Given the description of an element on the screen output the (x, y) to click on. 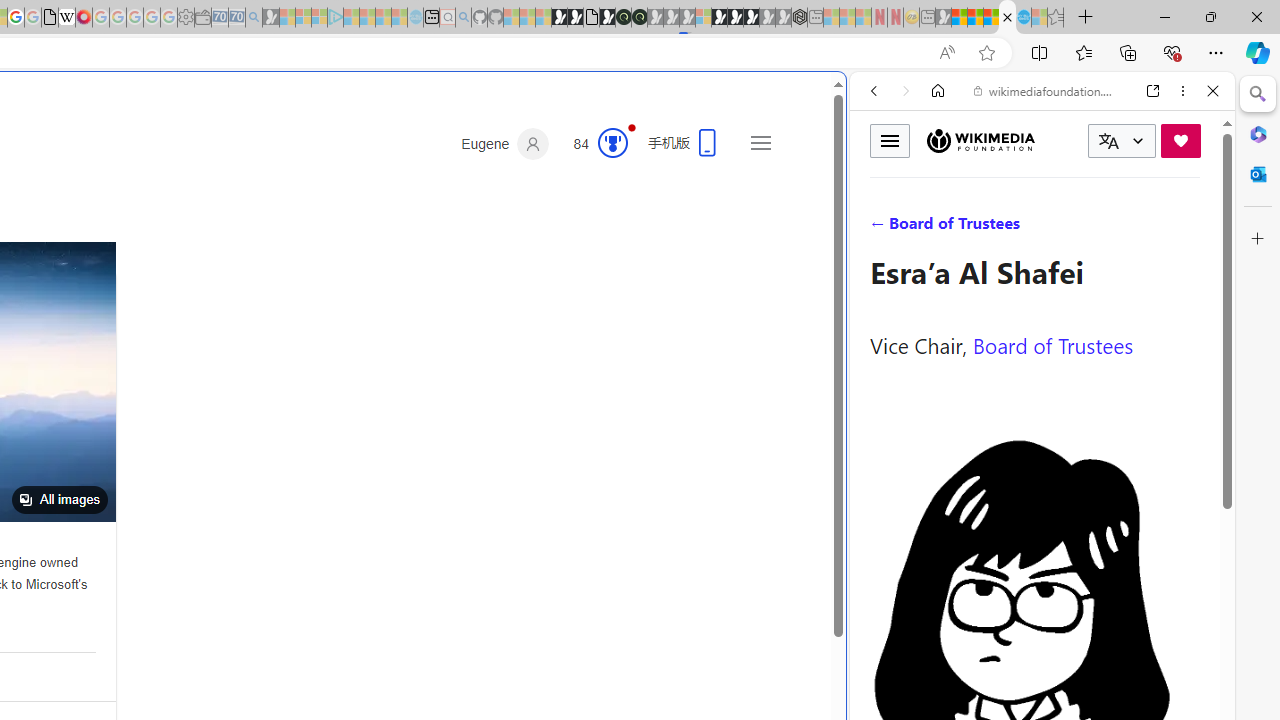
Donate now (1180, 140)
github - Search - Sleeping (463, 17)
Favorites - Sleeping (1055, 17)
AutomationID: serp_medal_svg (612, 142)
Future Focus Report 2024 (639, 17)
Wiktionary (1034, 669)
Close Customize pane (1258, 239)
Class: b_serphb (1190, 229)
